Given the description of an element on the screen output the (x, y) to click on. 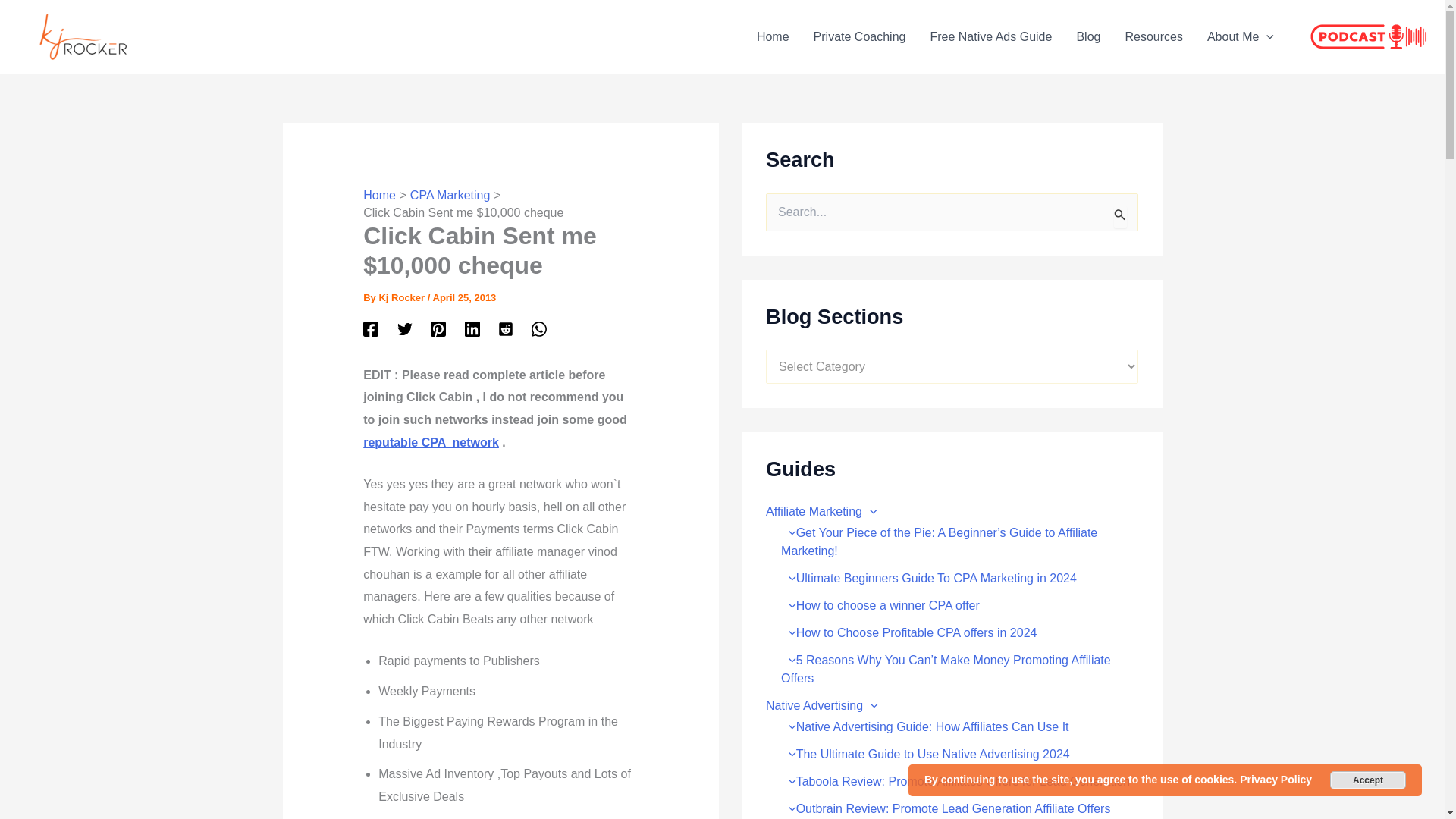
Home (773, 37)
View all posts by Kj Rocker (402, 297)
Private Coaching (860, 37)
Kj Rocker (402, 297)
KJ Rocker Blog (773, 37)
About Me (1240, 37)
CPA Marketing (450, 195)
Home (379, 195)
reputable CPA  network (430, 441)
Affiliate Marketing Blog (1088, 37)
Resources (1152, 37)
Free Native Ads Guide (990, 37)
Blog (1088, 37)
CPA Marketing Coach (860, 37)
